Given the description of an element on the screen output the (x, y) to click on. 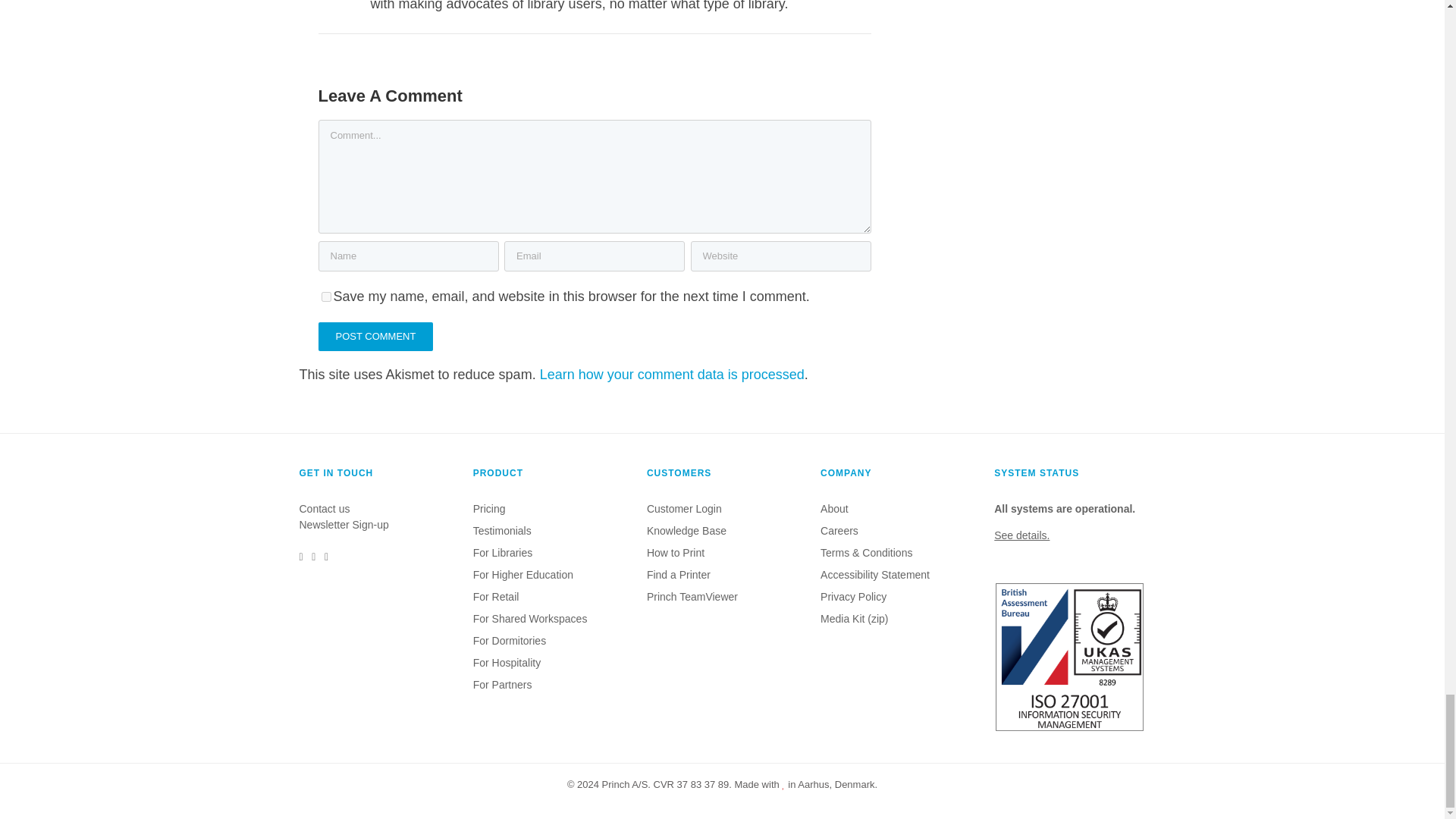
Post Comment (375, 336)
yes (326, 296)
